Given the description of an element on the screen output the (x, y) to click on. 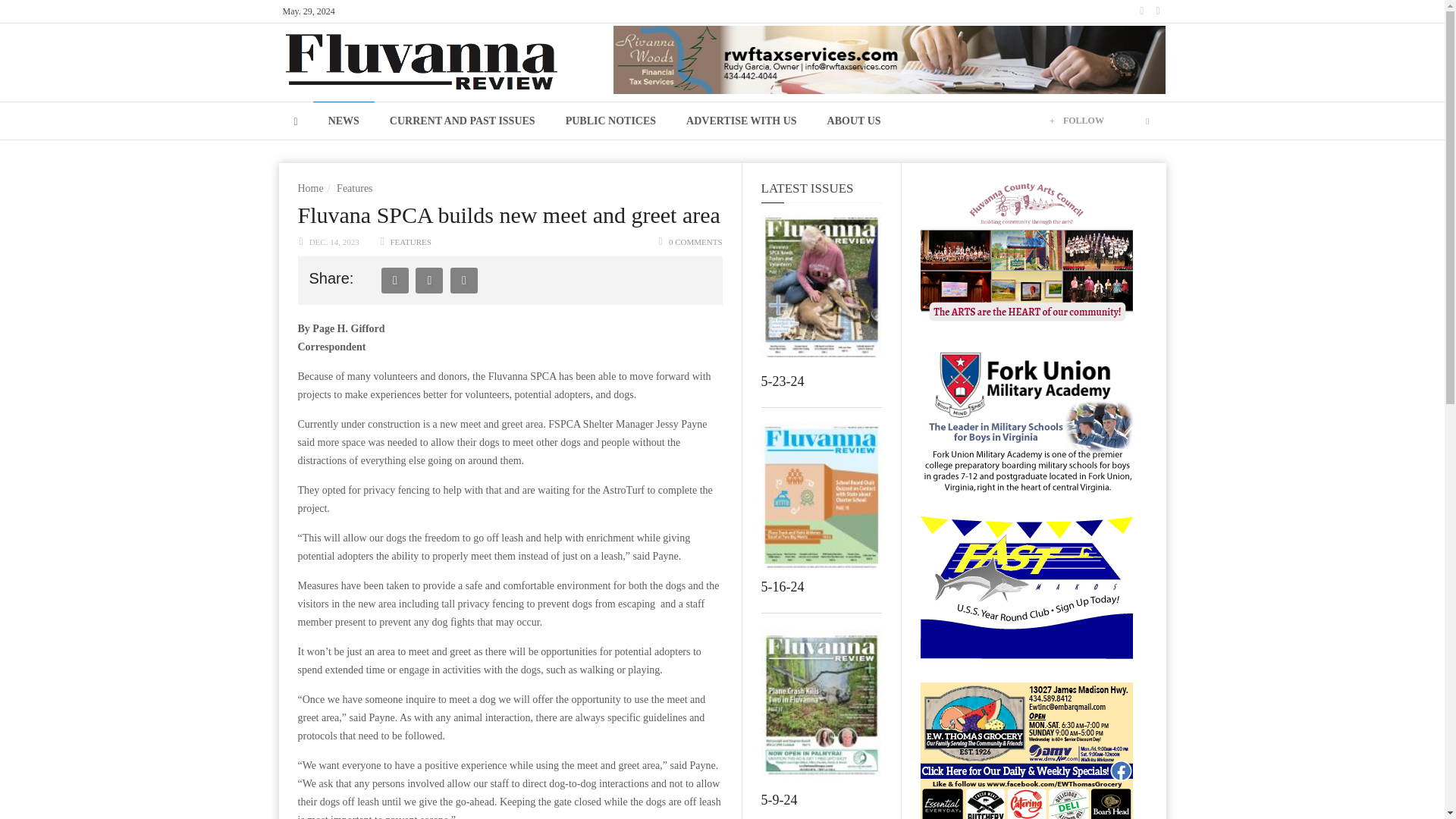
NEWS (343, 120)
View all posts in Features (410, 241)
FEATURES (410, 241)
ABOUT US (854, 120)
Home (310, 188)
ADVERTISE WITH US (741, 120)
FOLLOW (1083, 120)
CURRENT AND PAST ISSUES (462, 120)
Features (354, 188)
0 COMMENTS (695, 241)
Features (354, 188)
PUBLIC NOTICES (610, 120)
